Given the description of an element on the screen output the (x, y) to click on. 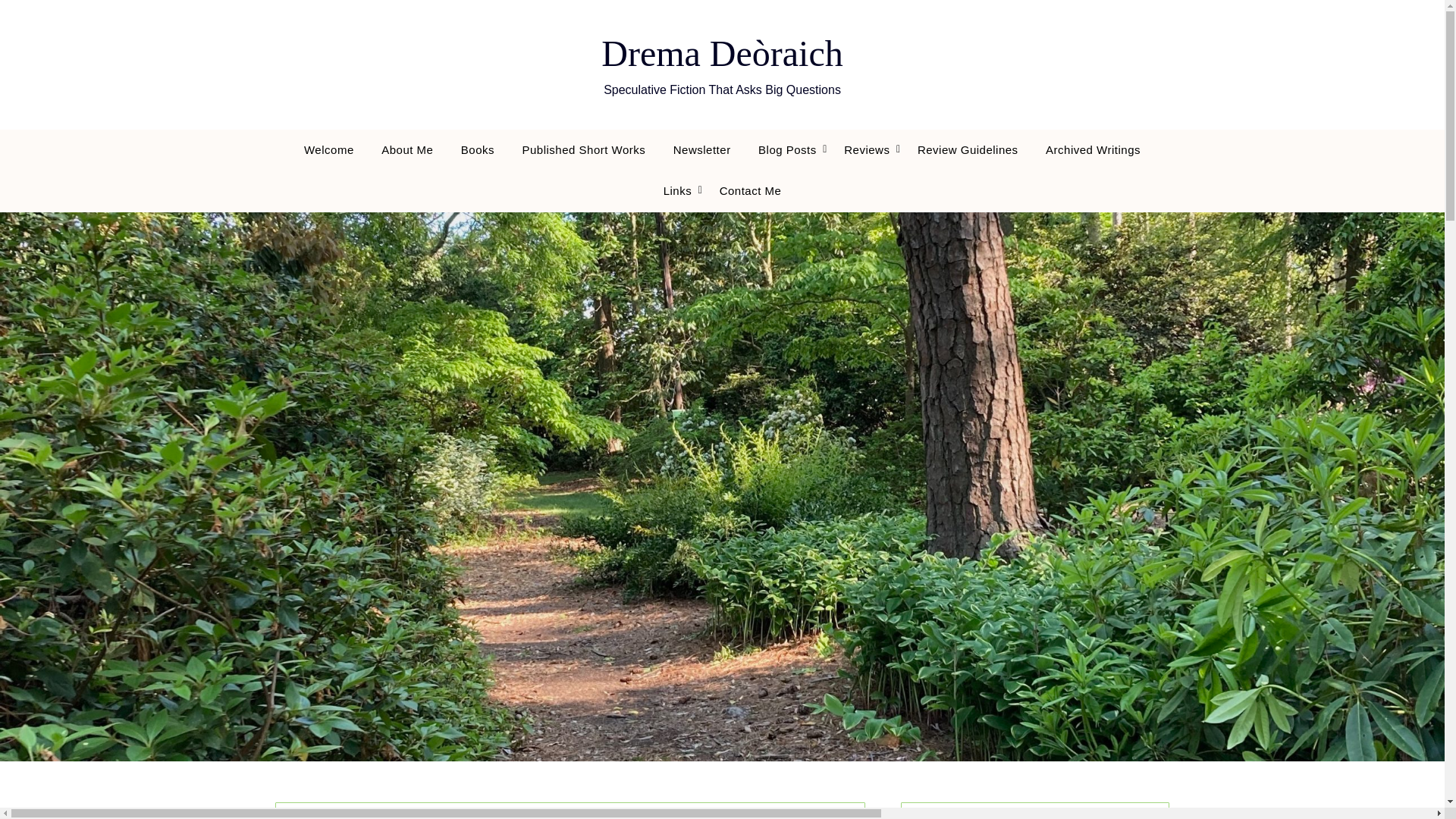
Archived Writings (1093, 149)
About Me (407, 149)
Links (677, 190)
Newsletter (701, 149)
Books (477, 149)
Welcome (329, 149)
Review Guidelines (967, 149)
Blog Posts (786, 149)
Reviews (866, 149)
Published Short Works (584, 149)
